Given the description of an element on the screen output the (x, y) to click on. 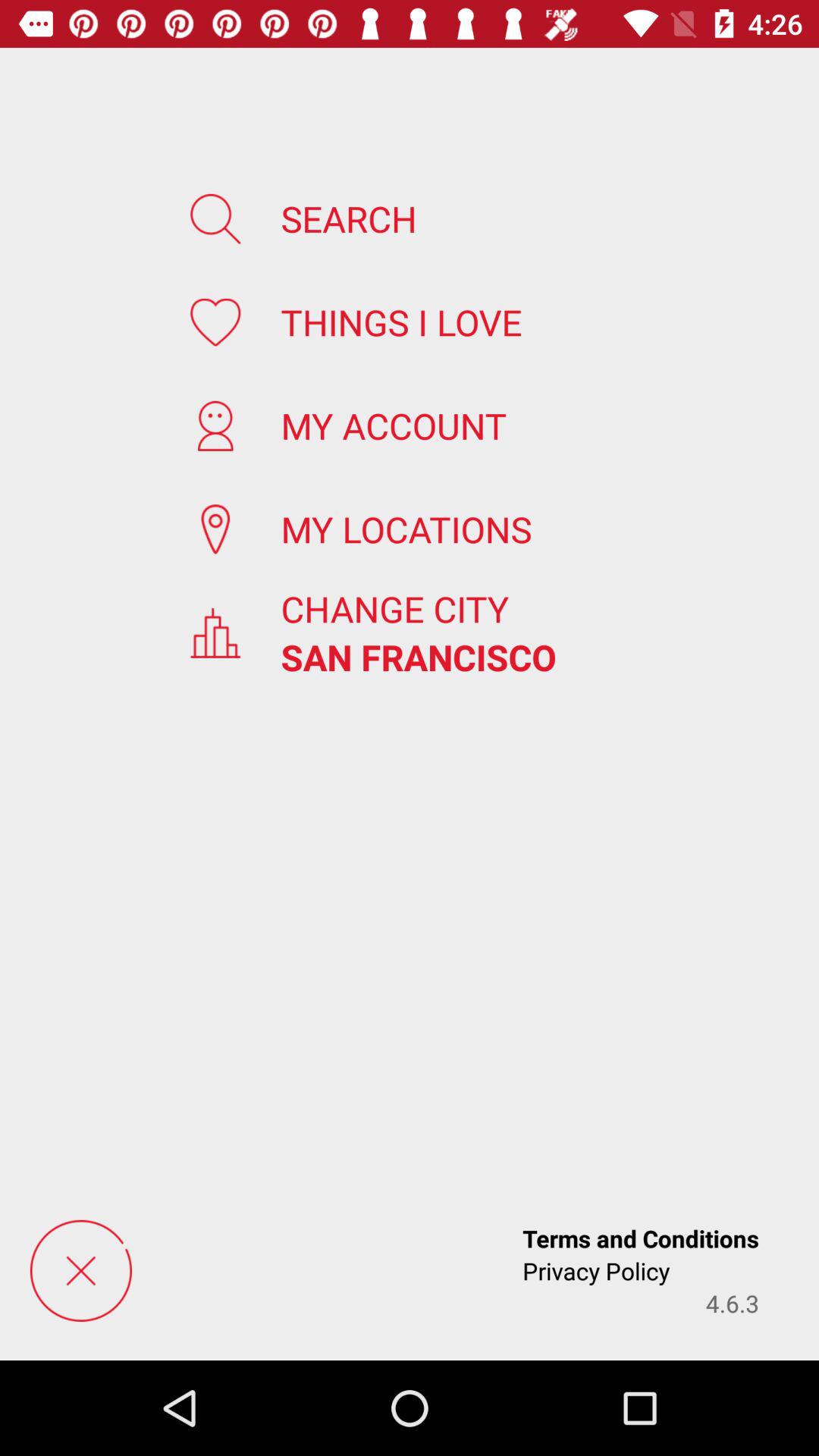
choose the my locations app (405, 529)
